Given the description of an element on the screen output the (x, y) to click on. 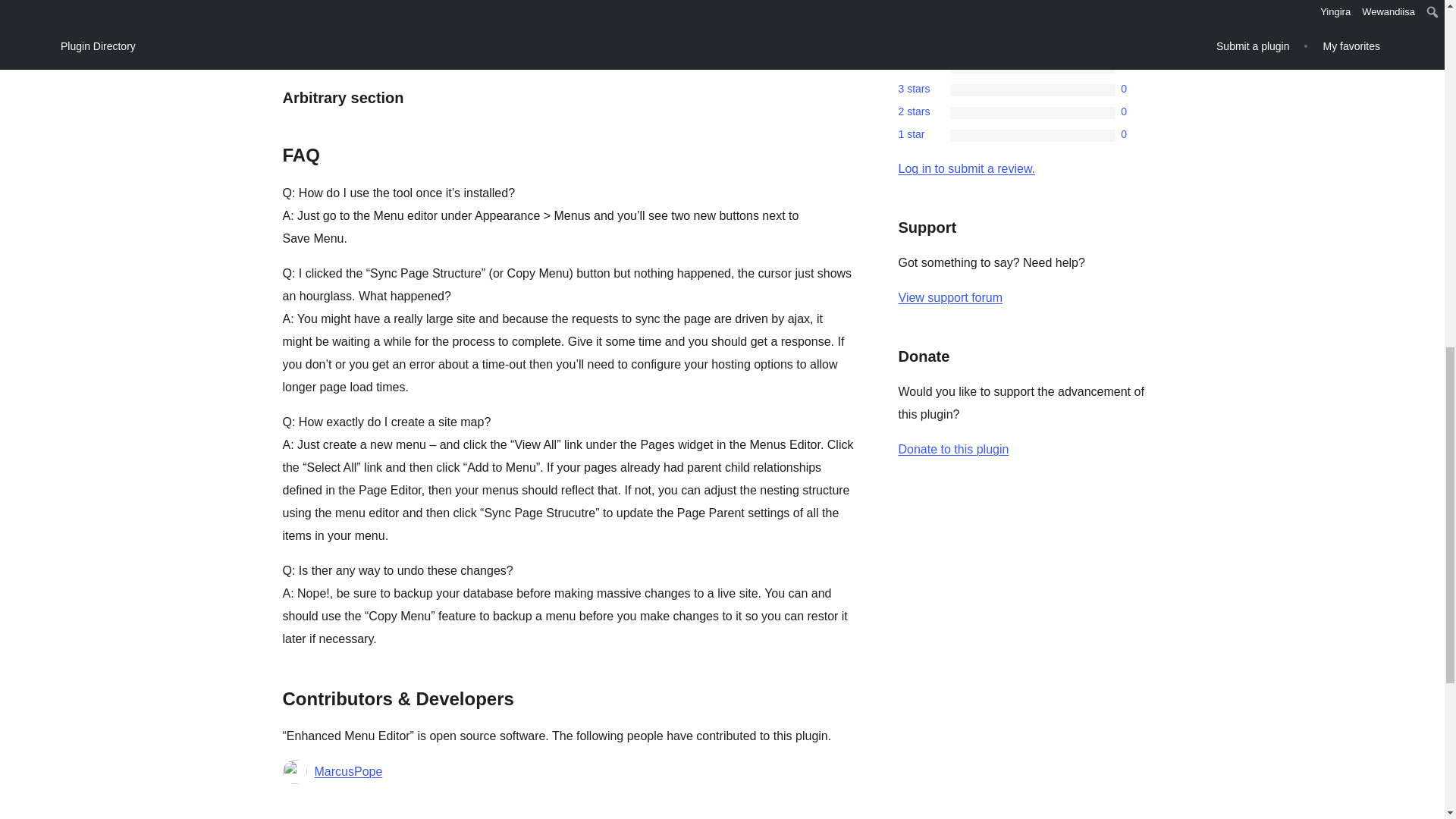
MarcusPope (347, 771)
Log in to WordPress.org (966, 168)
